Given the description of an element on the screen output the (x, y) to click on. 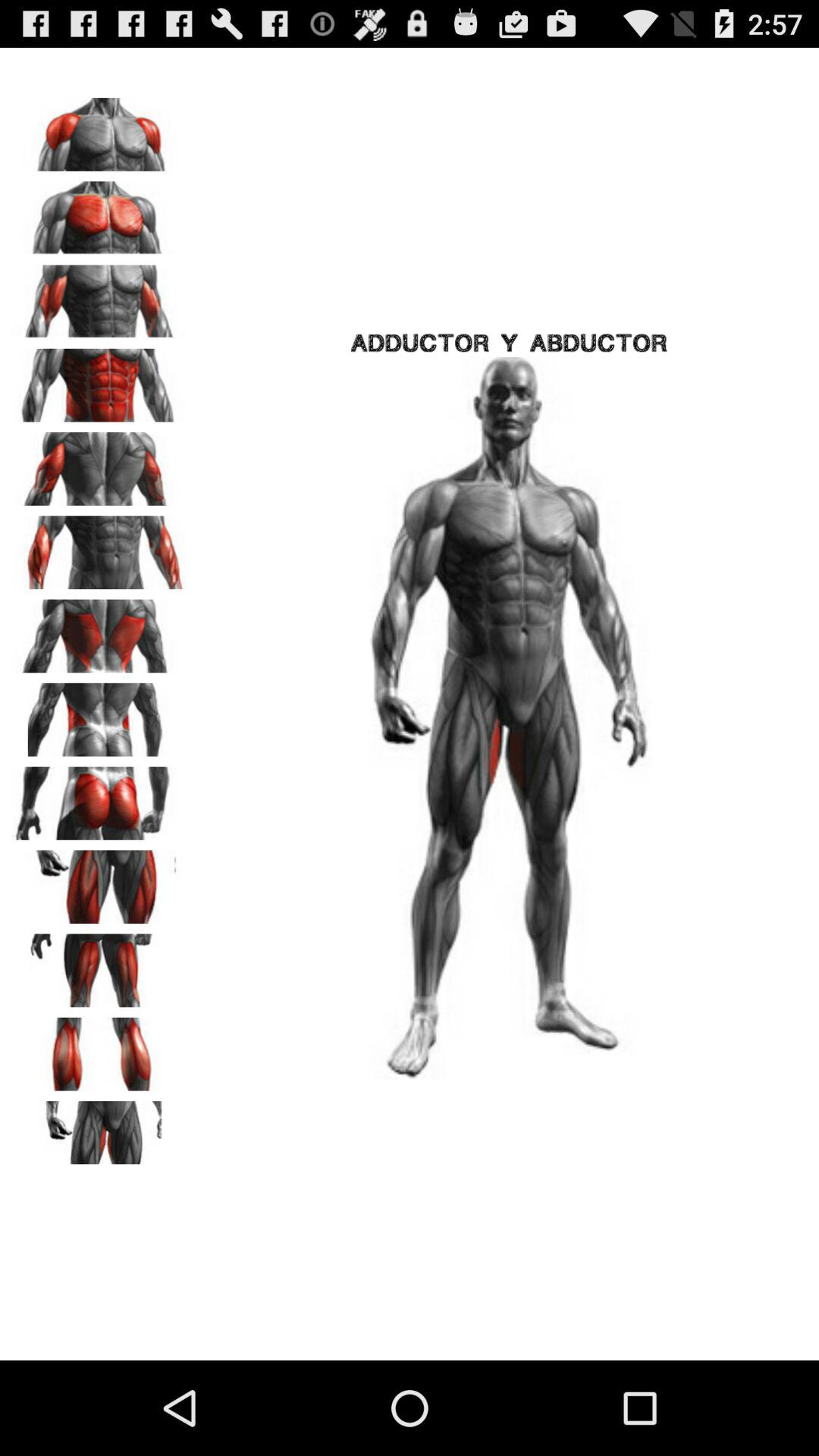
view biceps (99, 296)
